Given the description of an element on the screen output the (x, y) to click on. 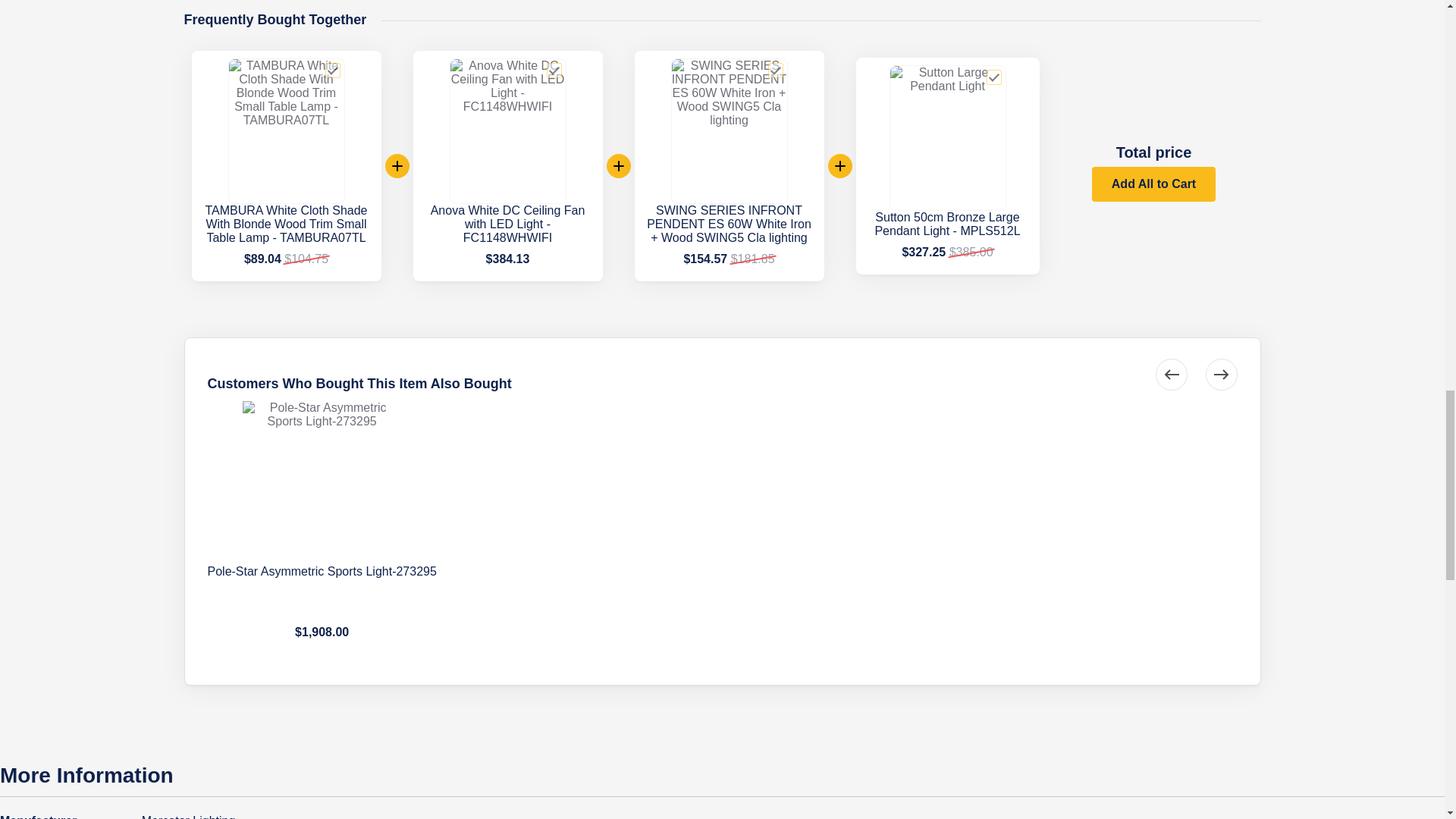
34321 (993, 77)
Sutton 50cm Bronze Large Pendant Light - MPLS512L (947, 223)
Pole-Star Asymmetric Sports Light-273295 (322, 570)
24298 (775, 70)
Anova White DC Ceiling Fan with LED Light - FC1148WHWIFI (507, 223)
37386 (331, 70)
37054 (553, 70)
Add to Cart (1153, 184)
